Given the description of an element on the screen output the (x, y) to click on. 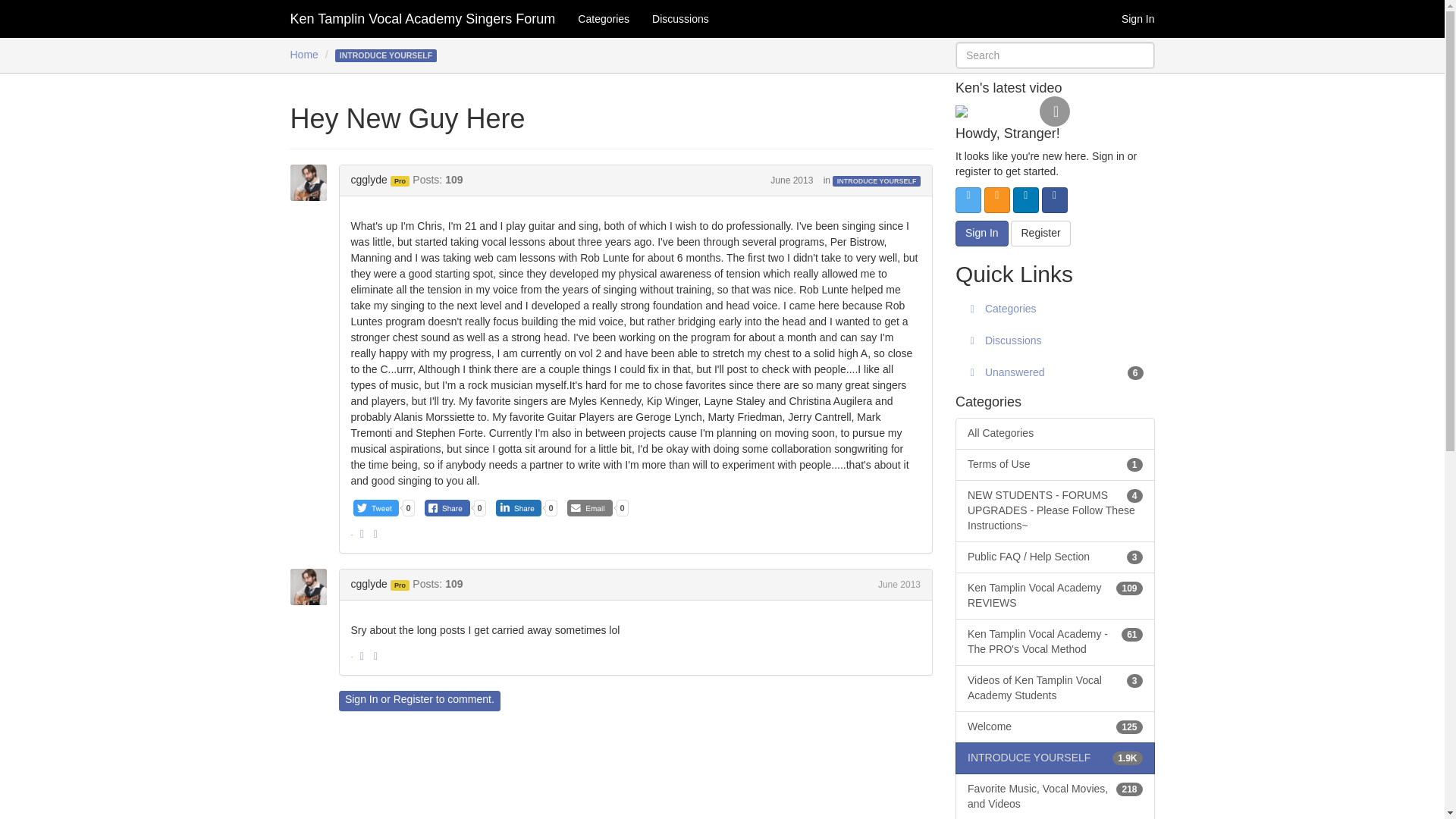
cgglyde (311, 586)
June 2013 (791, 180)
cgglyde (311, 182)
Categories (603, 18)
Ken Tamplin Vocal Academy Singers Forum (423, 18)
Home (303, 54)
Register (412, 698)
cgglyde (368, 179)
Sign In with LinkedIn (1026, 199)
109 discussions (1129, 588)
